Given the description of an element on the screen output the (x, y) to click on. 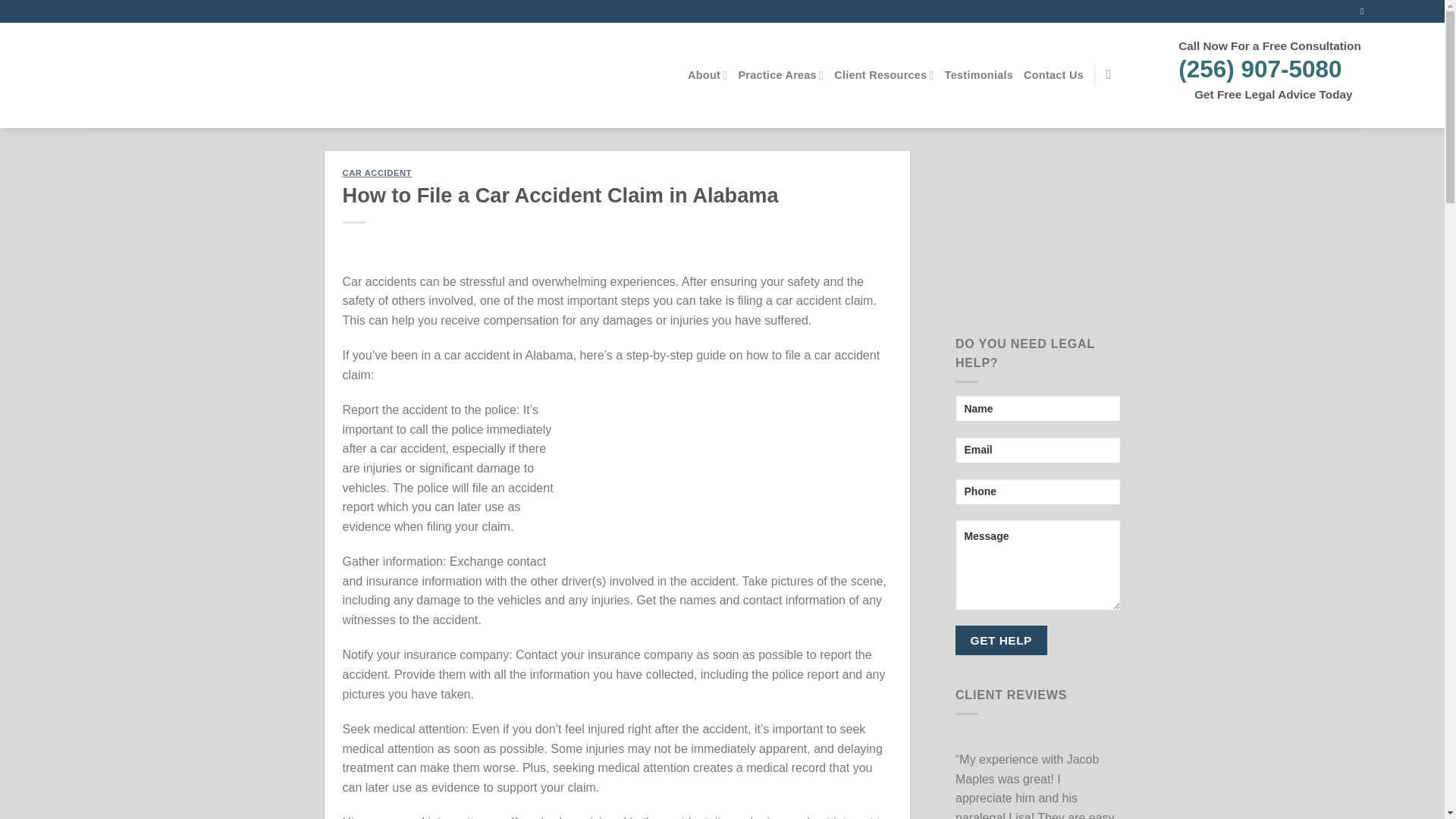
Phone (1038, 491)
Testimonials (978, 74)
Practice Areas (781, 75)
Name (1038, 407)
About (706, 75)
Contact Us (1053, 74)
Email (1038, 449)
Call Now For a Free Consultation (1269, 45)
Client Resources (884, 75)
Get Help (1000, 640)
